Given the description of an element on the screen output the (x, y) to click on. 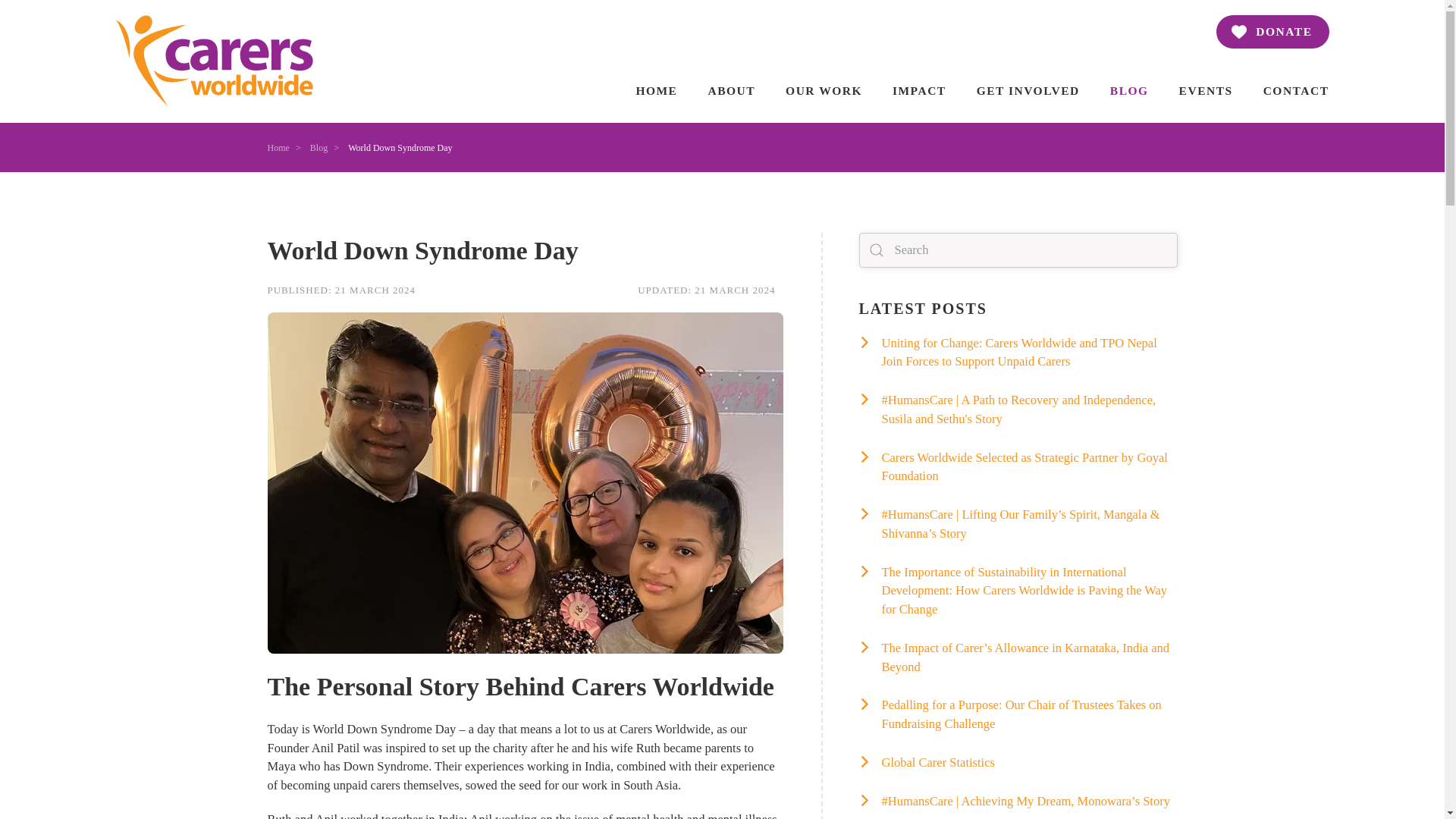
LATEST POSTS (1017, 308)
ABOUT (731, 90)
IMPACT (919, 90)
World Down Syndrome Day (524, 250)
DONATE (1271, 31)
OUR WORK (823, 90)
HOME (524, 290)
